Given the description of an element on the screen output the (x, y) to click on. 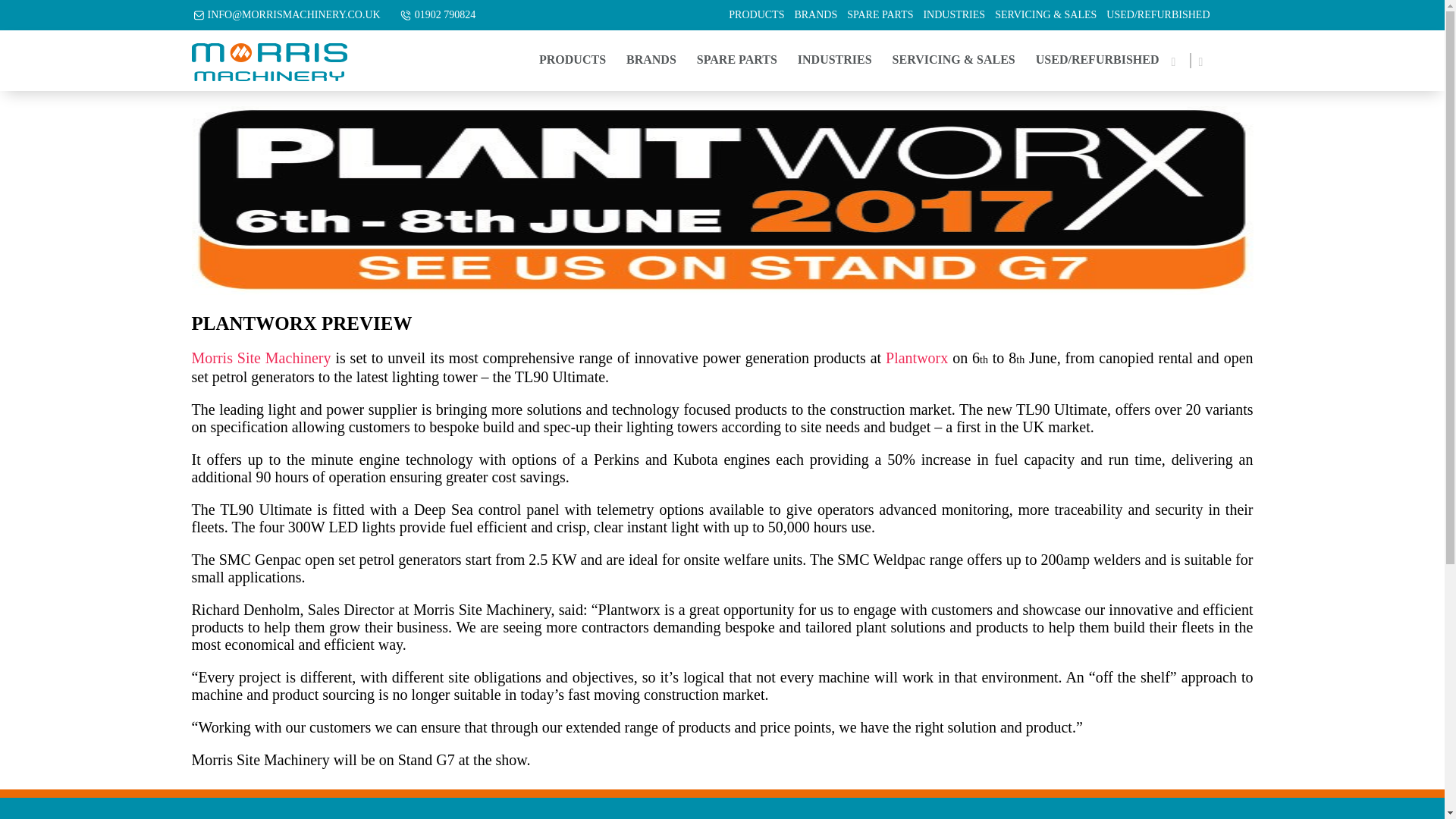
INDUSTRIES (954, 14)
SPARE PARTS (879, 14)
PRODUCTS (571, 60)
BRANDS (815, 14)
01902 790824 (445, 14)
PRODUCTS (756, 14)
